Given the description of an element on the screen output the (x, y) to click on. 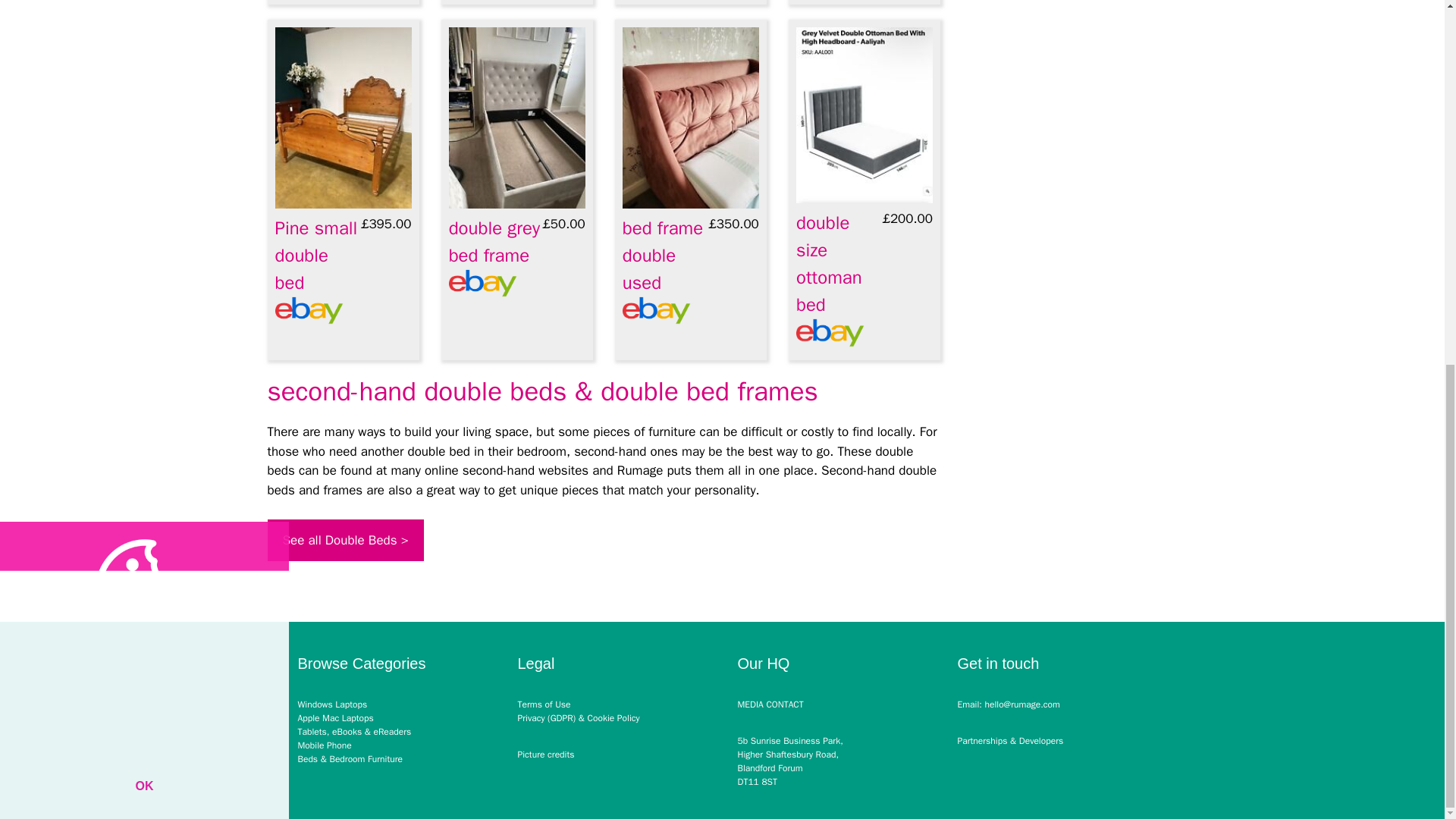
Pine small double bed (315, 255)
double grey bed frame (494, 241)
OK (143, 132)
